Given the description of an element on the screen output the (x, y) to click on. 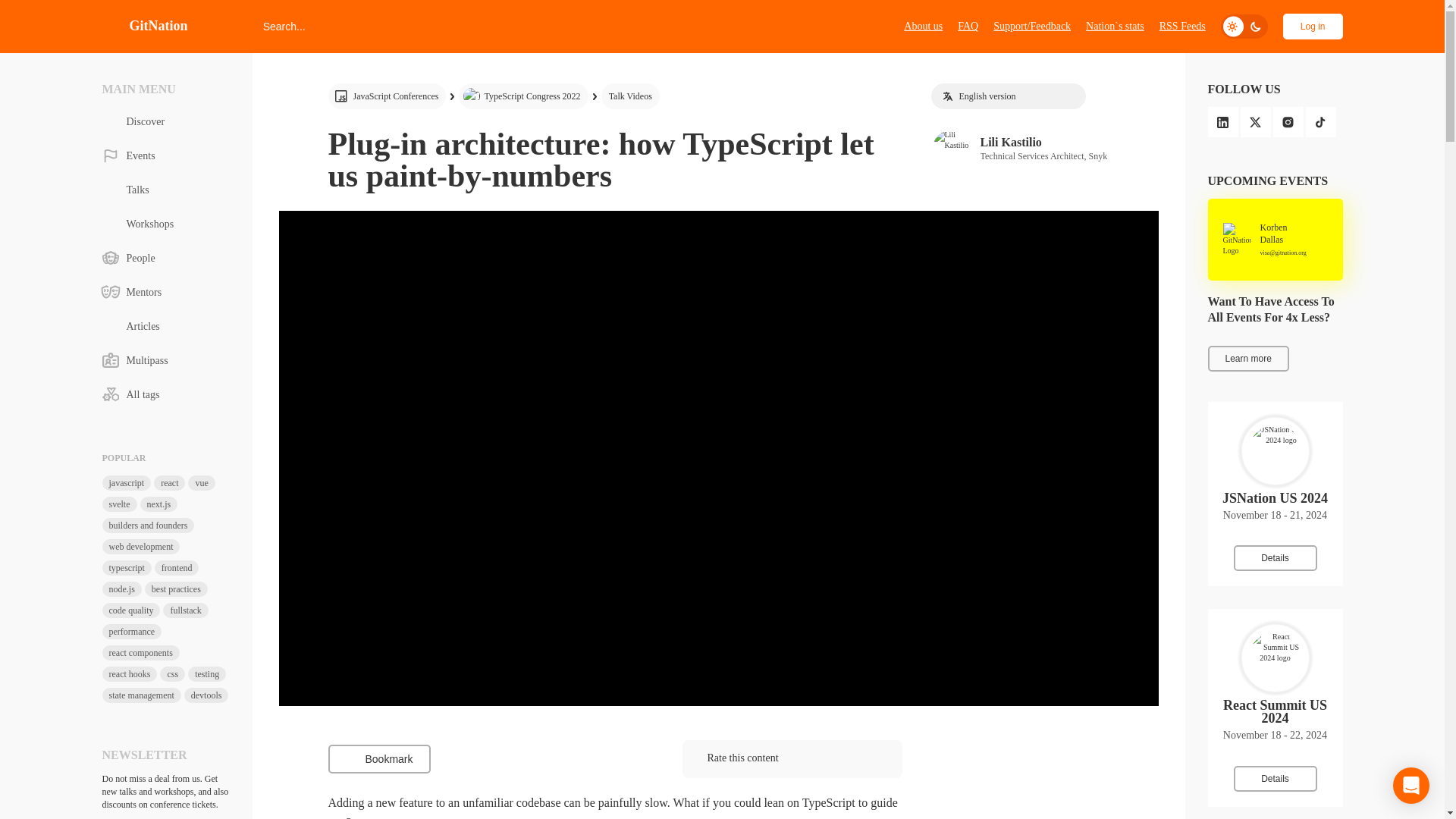
JavaScript Conferences (386, 95)
Log in (1312, 26)
GitNation (144, 25)
FAQ (968, 25)
About us (1044, 147)
TypeScript Congress 2022 (923, 25)
Bookmark (523, 95)
RSS Feeds (378, 758)
Talk Videos (1181, 25)
Add to bookmarks (630, 95)
